Given the description of an element on the screen output the (x, y) to click on. 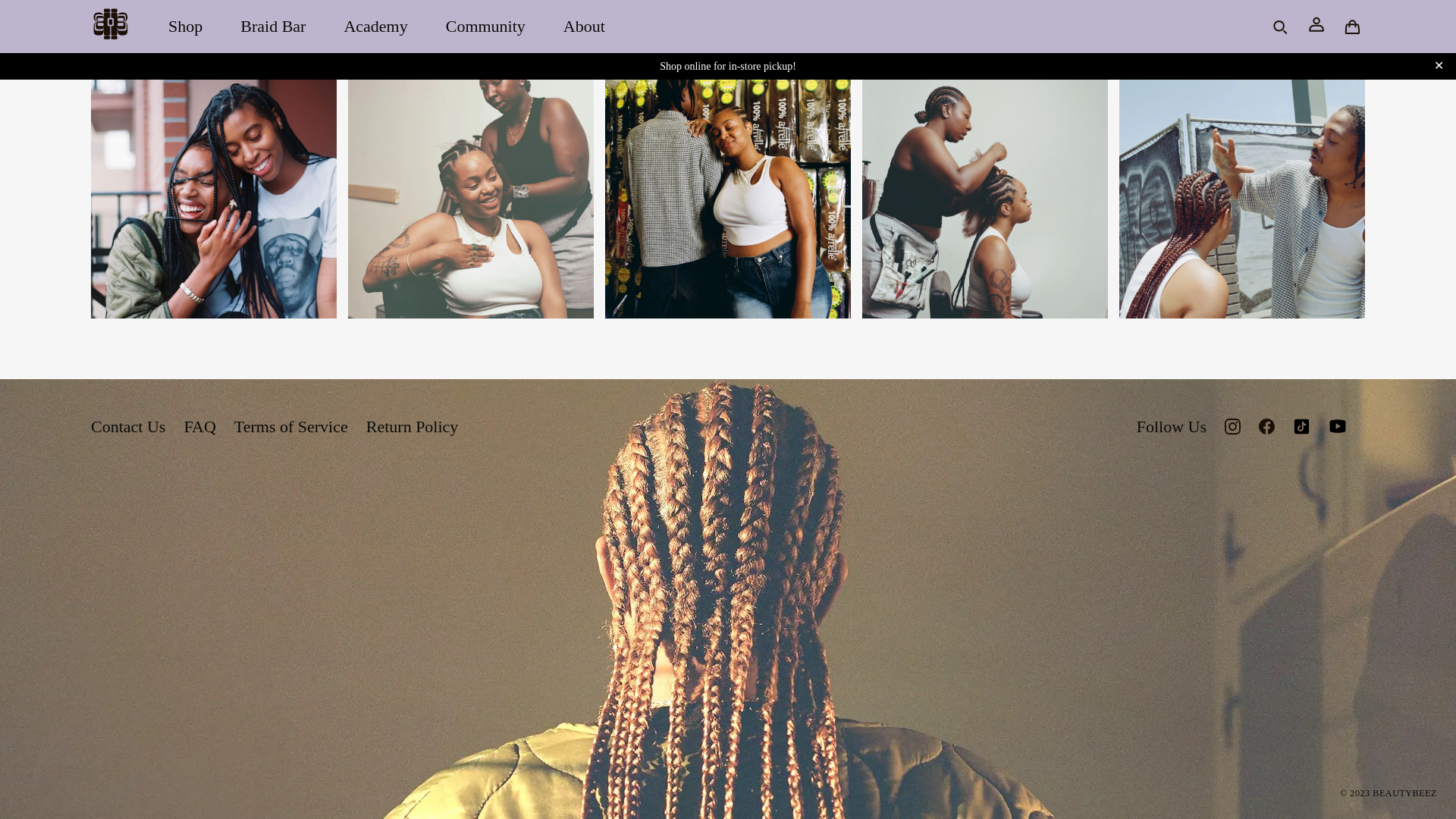
Contact Us (127, 425)
Return Policy (412, 425)
FAQ (199, 425)
Terms of Service (290, 425)
